Given the description of an element on the screen output the (x, y) to click on. 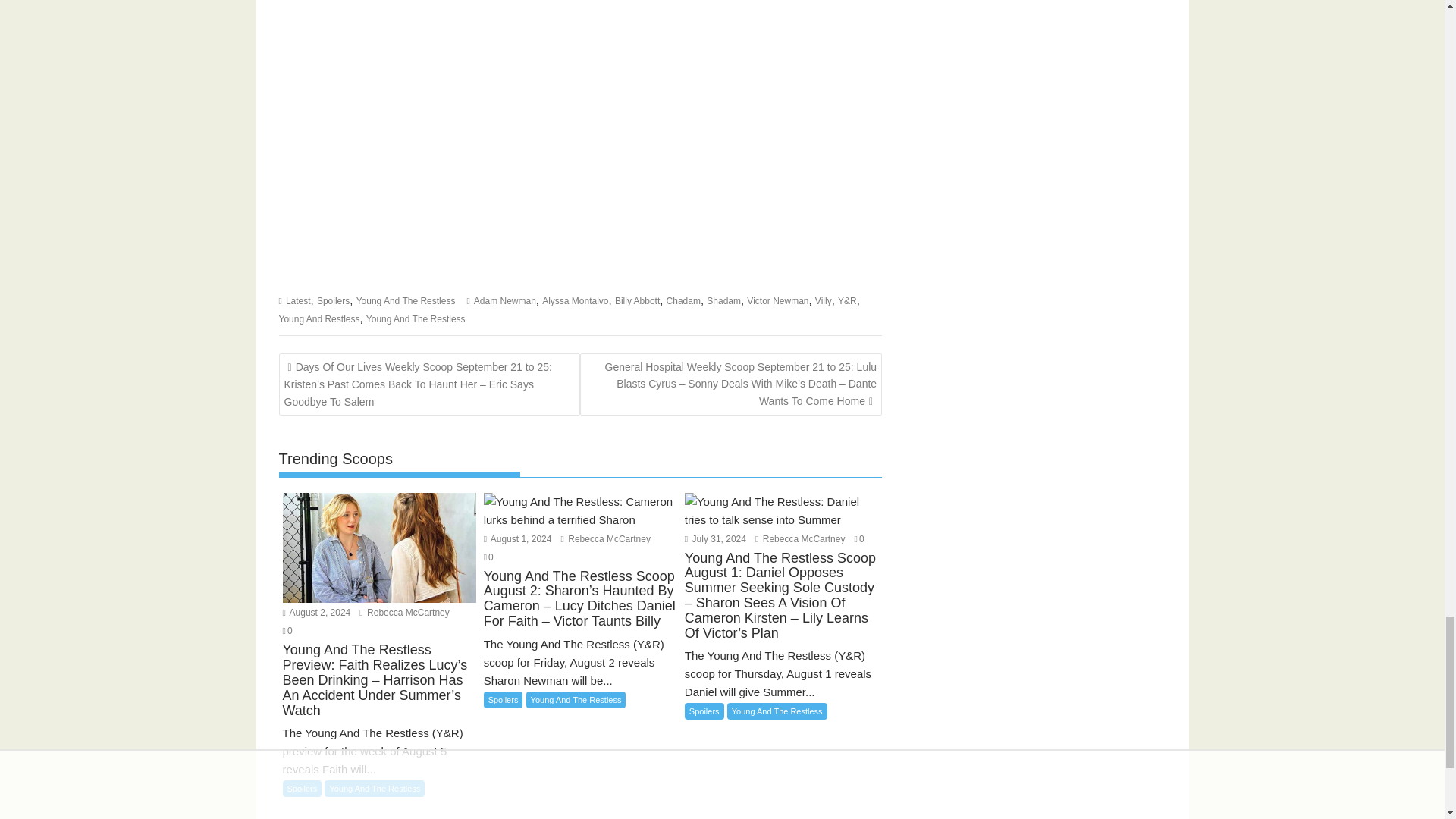
Rebecca McCartney (799, 538)
Rebecca McCartney (605, 538)
Rebecca McCartney (403, 612)
